Given the description of an element on the screen output the (x, y) to click on. 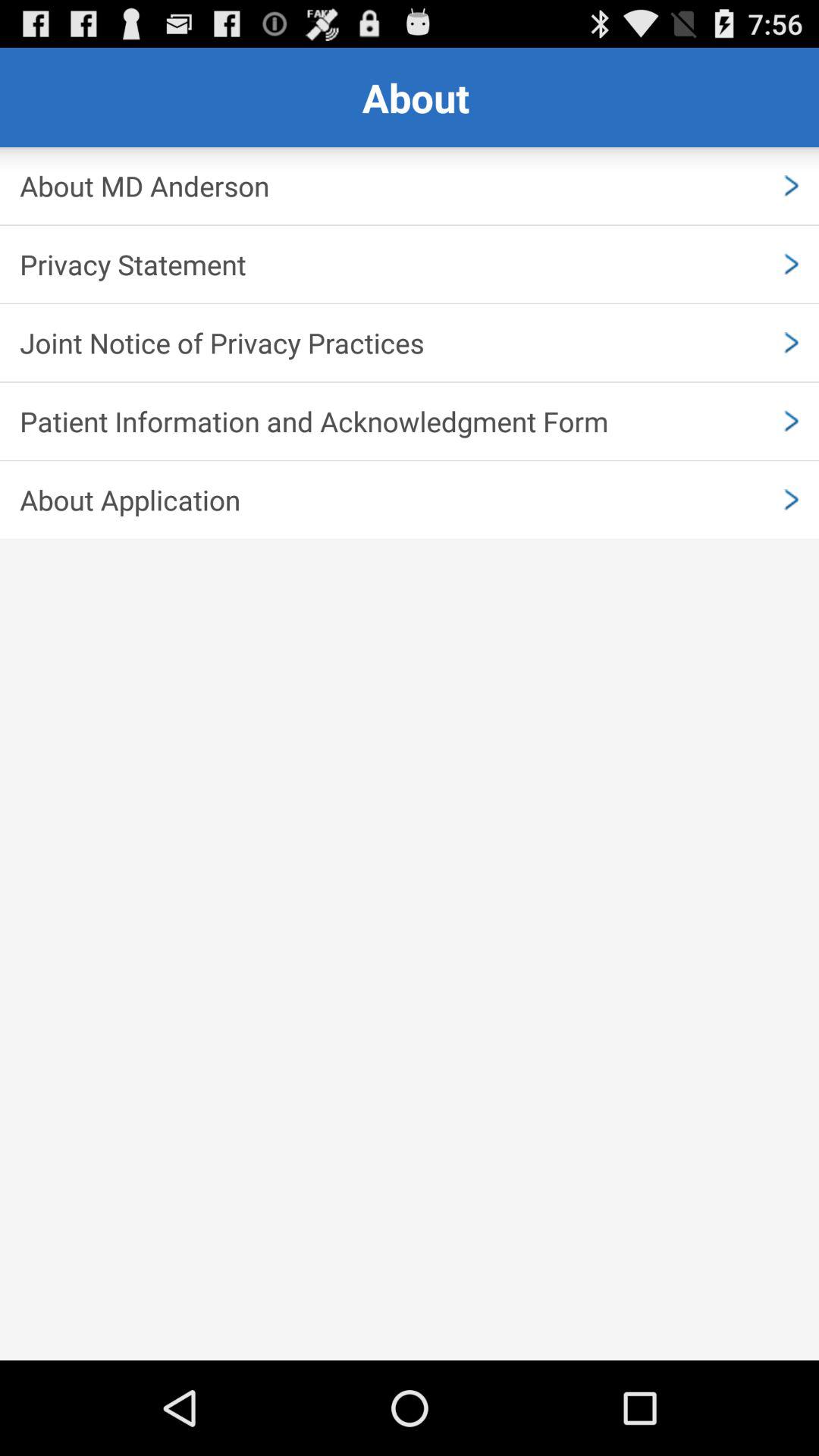
open the joint notice of app (409, 342)
